Given the description of an element on the screen output the (x, y) to click on. 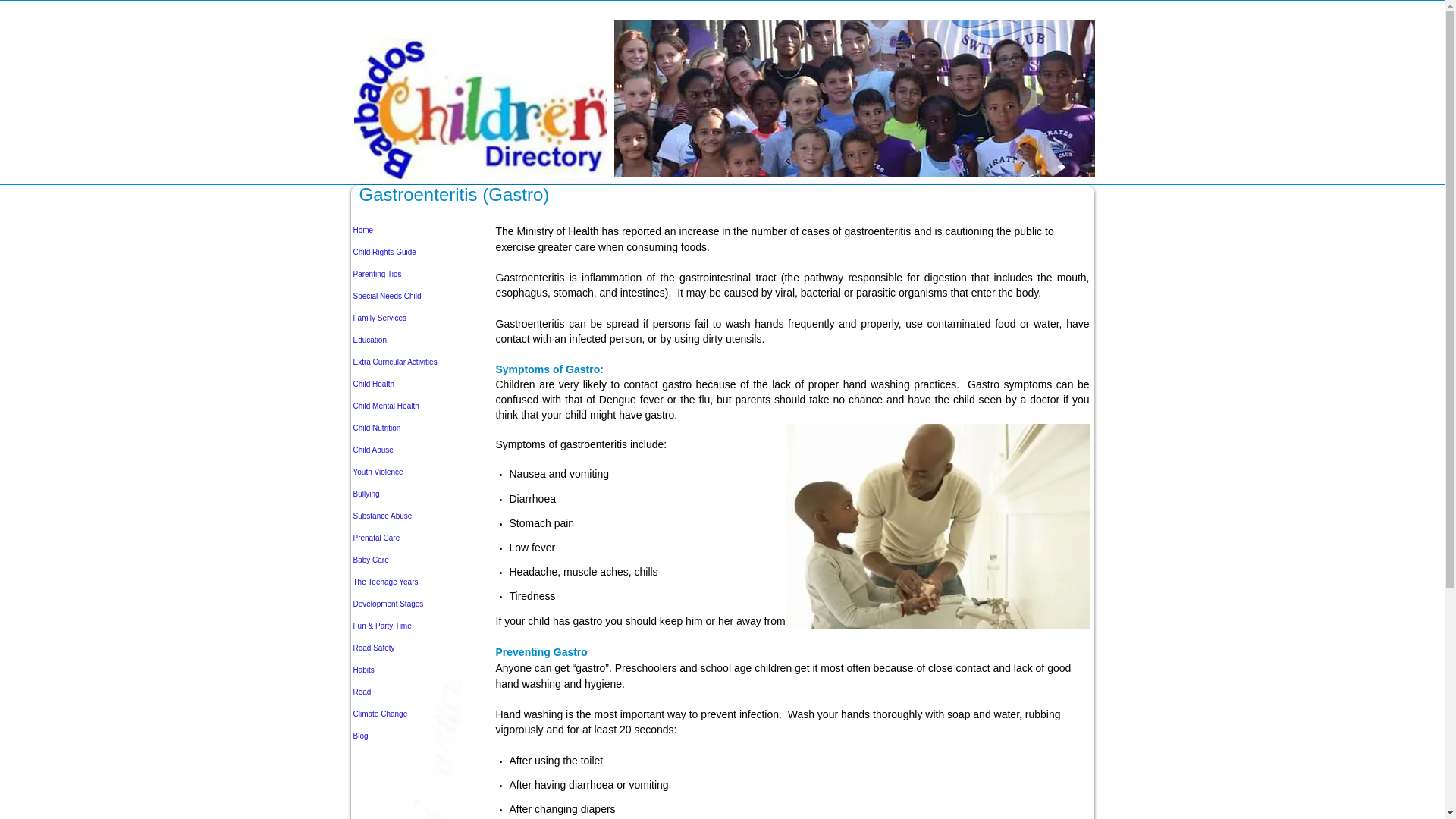
Climate Change (413, 713)
Child Rights Guide (413, 251)
Child Health (413, 383)
Read (413, 691)
Family Services (413, 318)
Development Stages (413, 603)
Home (413, 229)
The Teenage Years (413, 581)
Child Abuse (413, 449)
Child Mental Health (413, 405)
